Given the description of an element on the screen output the (x, y) to click on. 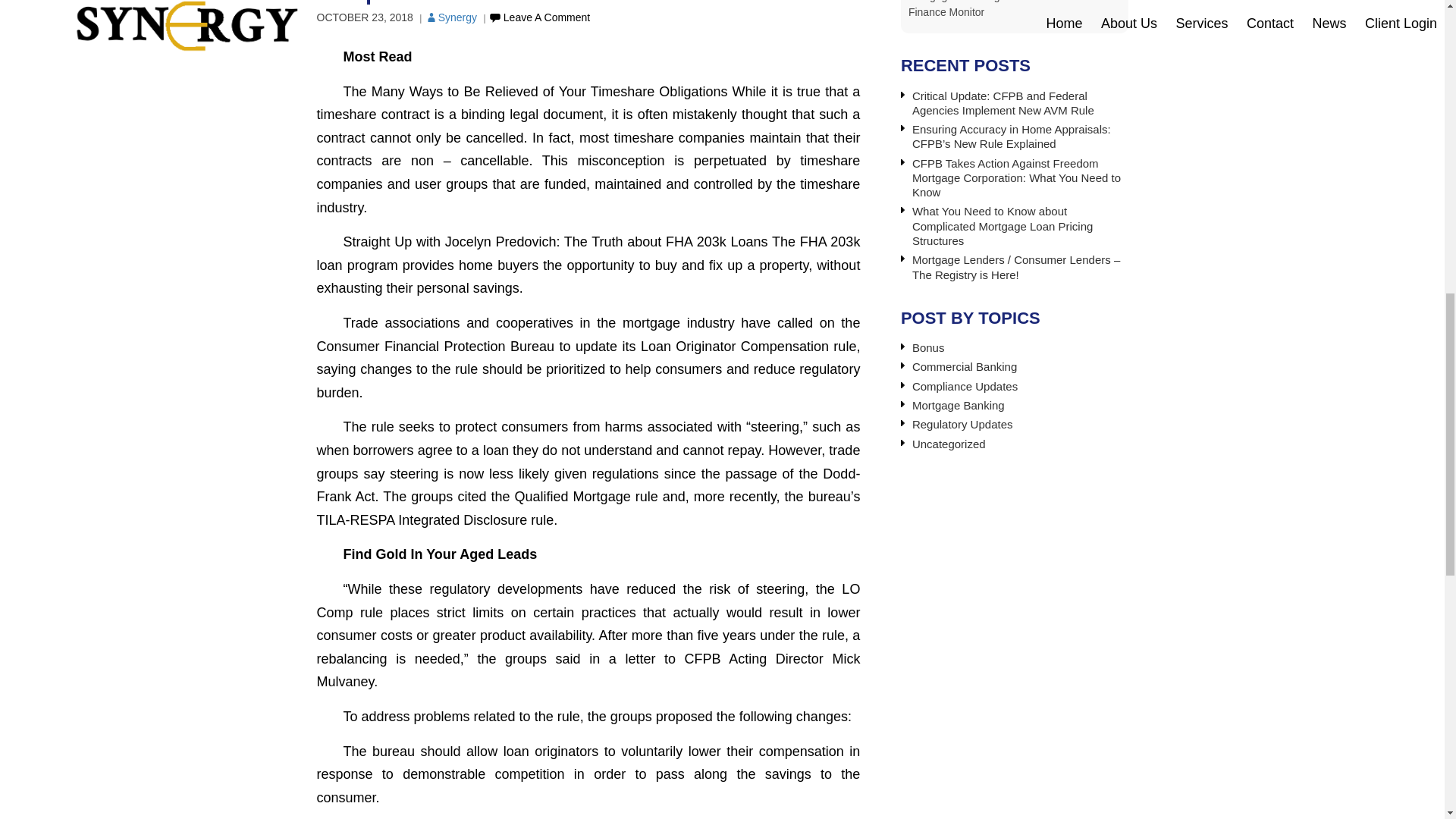
Leave A Comment (538, 17)
Regulatory Updates (962, 423)
Synergy (451, 17)
Mortgage Banking (958, 404)
Bonus (928, 347)
Commercial Banking (964, 366)
OCTOBER 23, 2018 (365, 17)
Compliance Updates (964, 386)
Uncategorized (948, 443)
